Given the description of an element on the screen output the (x, y) to click on. 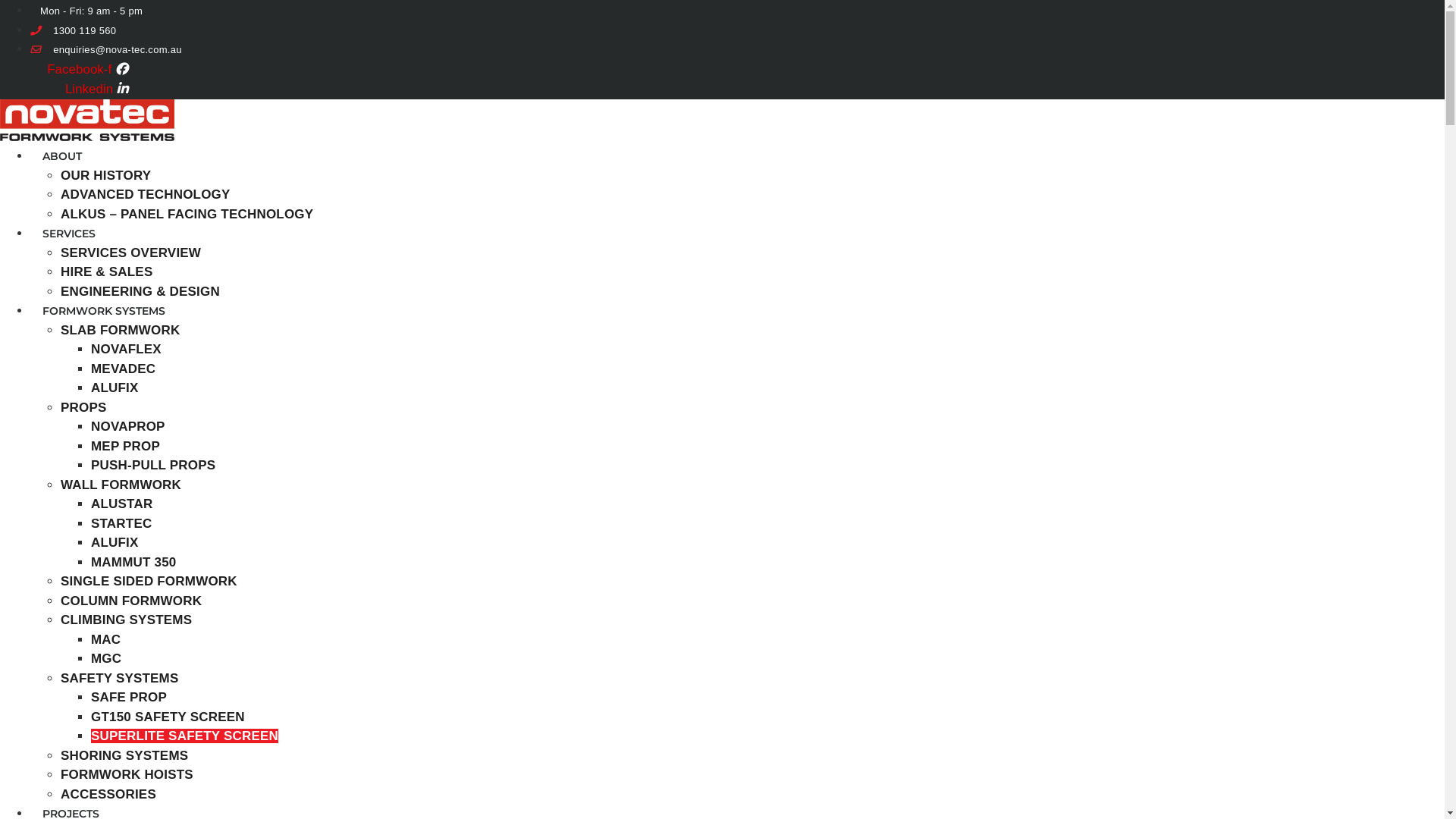
OUR HISTORY Element type: text (105, 175)
SUPERLITE SAFETY SCREEN Element type: text (184, 735)
GT150 SAFETY SCREEN Element type: text (167, 716)
SINGLE SIDED FORMWORK Element type: text (148, 581)
SAFETY SYSTEMS Element type: text (119, 678)
Facebook-f Element type: text (87, 69)
ENGINEERING & DESIGN Element type: text (139, 291)
Linkedin Element type: text (96, 88)
SLAB FORMWORK Element type: text (119, 330)
NOVAPROP Element type: text (128, 426)
MGC Element type: text (106, 658)
ACCESSORIES Element type: text (108, 794)
WALL FORMWORK Element type: text (120, 484)
MEP PROP Element type: text (125, 446)
MAMMUT 350 Element type: text (133, 562)
FORMWORK HOISTS Element type: text (126, 774)
MEVADEC Element type: text (123, 368)
SAFE PROP Element type: text (128, 697)
COLUMN FORMWORK Element type: text (130, 600)
enquiries@nova-tec.com.au Element type: text (106, 49)
ALUFIX Element type: text (114, 542)
ADVANCED TECHNOLOGY Element type: text (145, 194)
ALUFIX Element type: text (114, 387)
1300 119 560 Element type: text (73, 29)
FORMWORK SYSTEMS Element type: text (103, 310)
PUSH-PULL PROPS Element type: text (153, 465)
STARTEC Element type: text (121, 523)
SERVICES OVERVIEW Element type: text (130, 252)
ABOUT Element type: text (62, 155)
CLIMBING SYSTEMS Element type: text (125, 619)
NOVAFLEX Element type: text (126, 349)
MAC Element type: text (105, 639)
SERVICES Element type: text (68, 233)
ALUSTAR Element type: text (121, 503)
SHORING SYSTEMS Element type: text (124, 755)
PROPS Element type: text (83, 407)
HIRE & SALES Element type: text (106, 271)
